Given the description of an element on the screen output the (x, y) to click on. 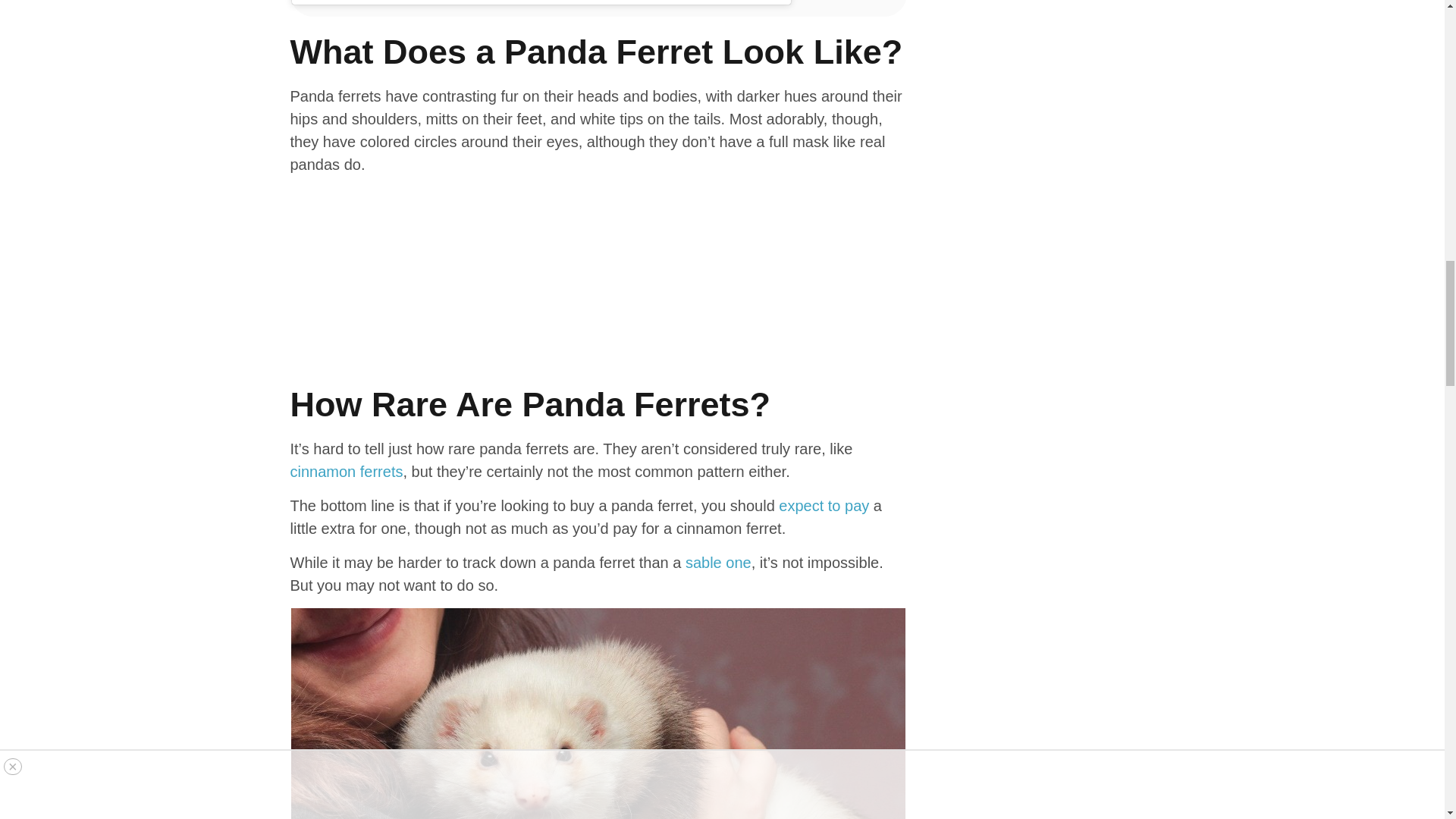
sable one (718, 562)
expect to pay (823, 505)
cinnamon ferrets (346, 471)
